Given the description of an element on the screen output the (x, y) to click on. 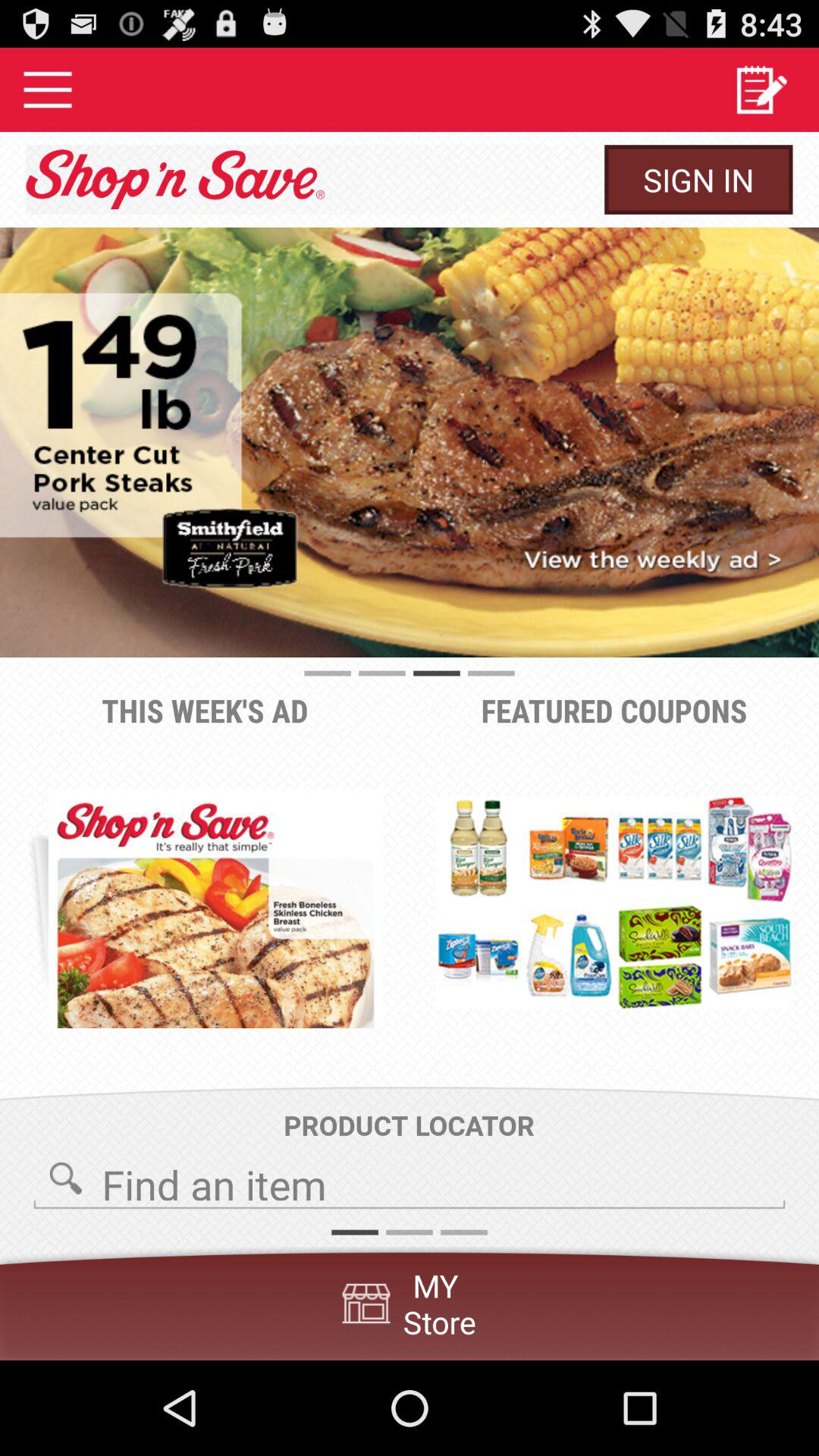
shopping list (760, 89)
